Given the description of an element on the screen output the (x, y) to click on. 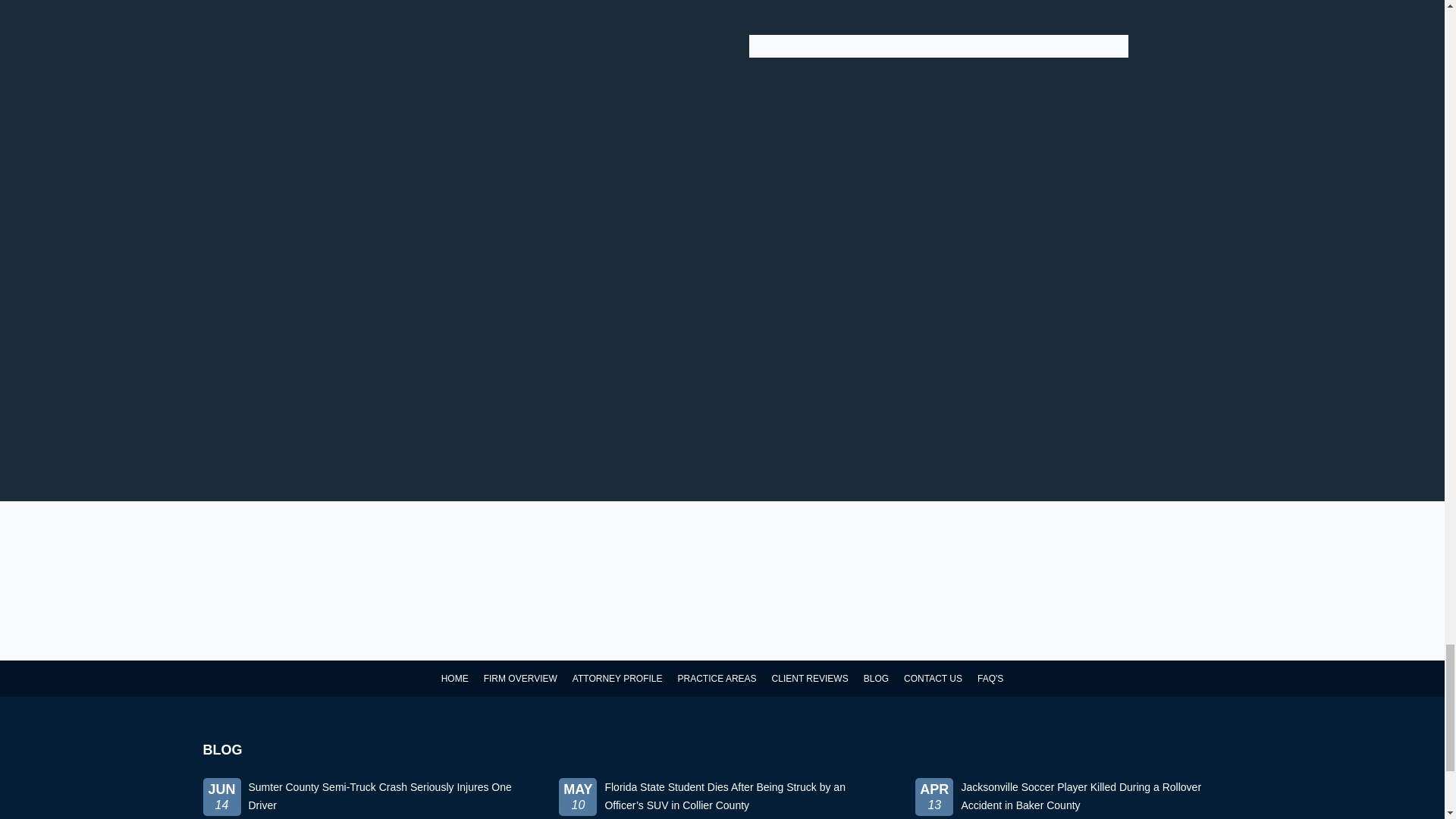
Sumter County Semi-Truck Crash Seriously Injures One Driver (366, 796)
